Given the description of an element on the screen output the (x, y) to click on. 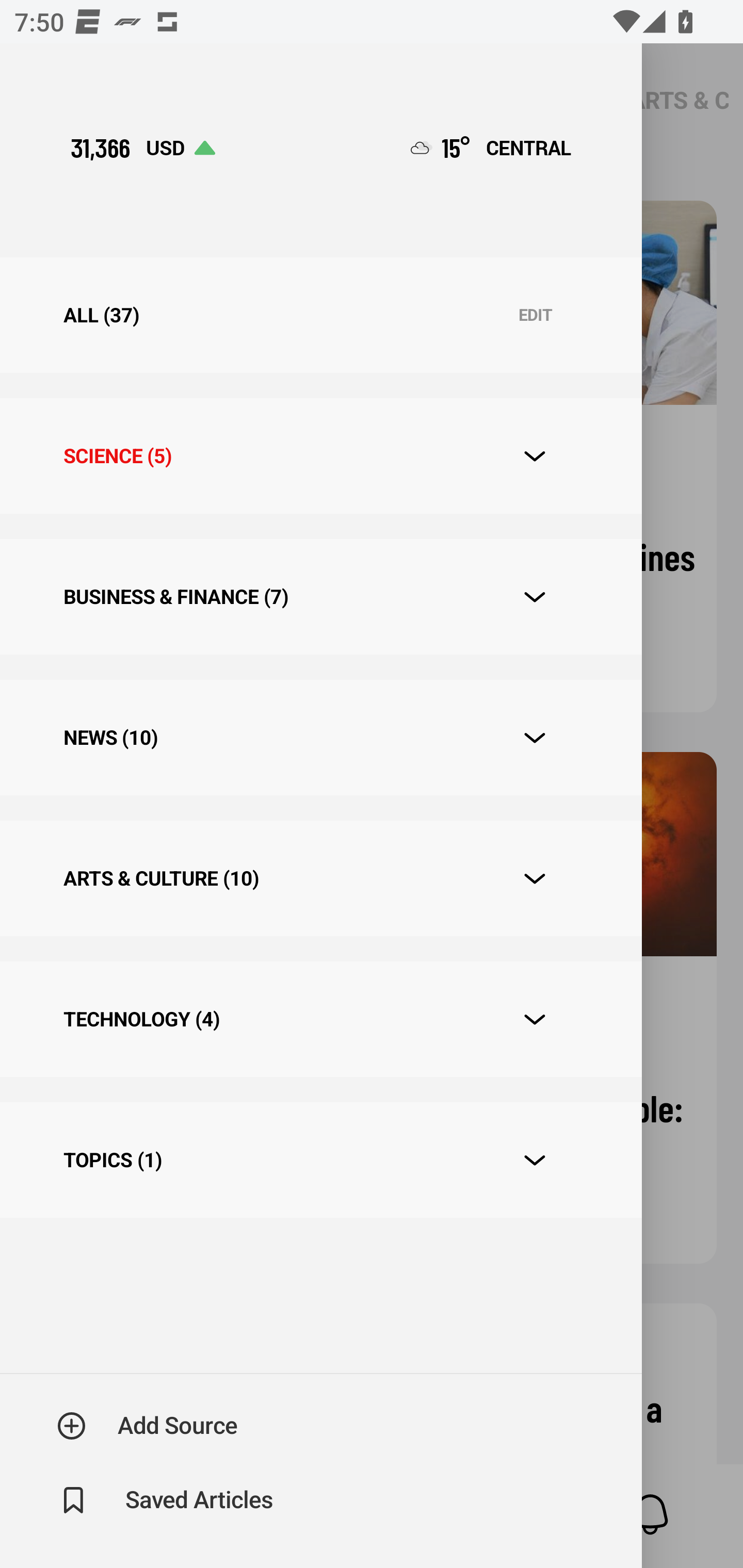
31,366 USD Current State of the Currency (142, 147)
Current State of the Weather 15° CENTRAL (490, 147)
ALL  (37) EDIT (320, 315)
EDIT (534, 315)
SCIENCE  (5) Expand Button (320, 456)
Expand Button (534, 456)
BUSINESS & FINANCE  (7) Expand Button (320, 596)
Expand Button (534, 597)
NEWS  (10) Expand Button (320, 737)
Expand Button (534, 737)
ARTS & CULTURE  (10) Expand Button (320, 878)
Expand Button (534, 878)
TECHNOLOGY  (4) Expand Button (320, 1019)
Expand Button (534, 1019)
TOPICS  (1) Expand Button (320, 1160)
Expand Button (534, 1160)
Open Content Store Add Source (147, 1425)
Open Saved News  Saved Articles (166, 1500)
